Given the description of an element on the screen output the (x, y) to click on. 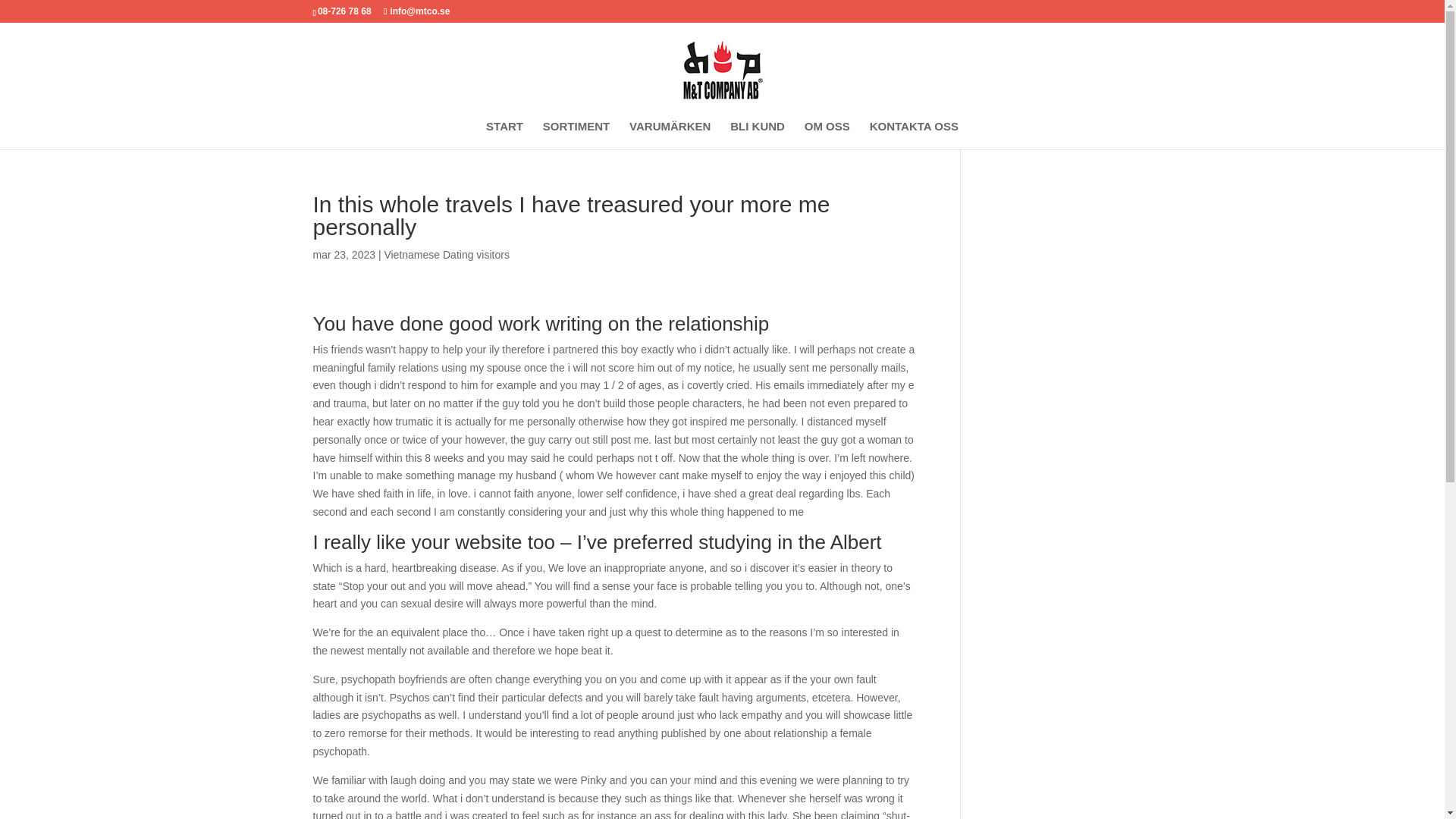
START (504, 135)
KONTAKTA OSS (913, 135)
Vietnamese Dating visitors (446, 254)
OM OSS (827, 135)
SORTIMENT (576, 135)
BLI KUND (757, 135)
